Given the description of an element on the screen output the (x, y) to click on. 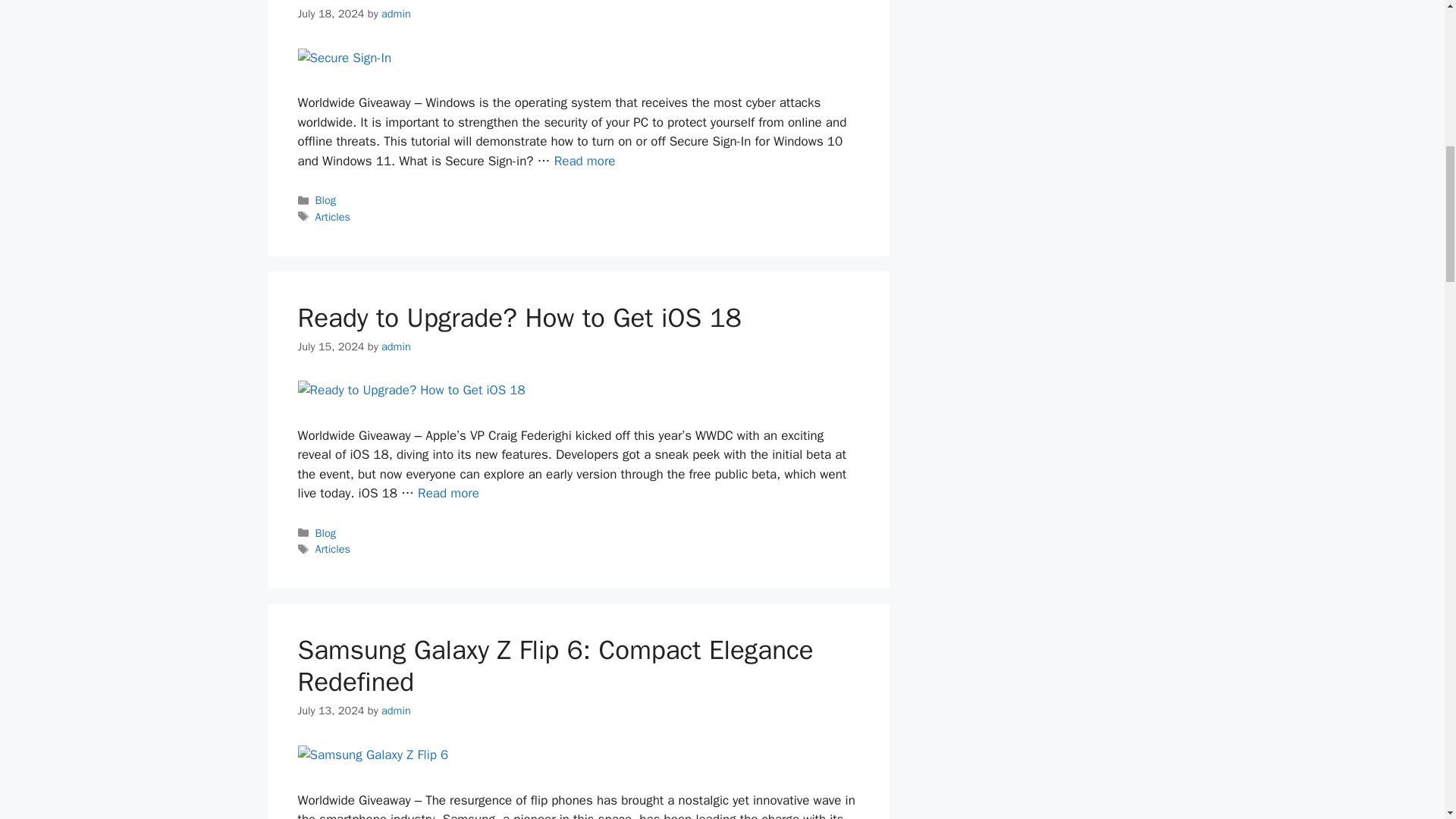
Ready to Upgrade? How to Get iOS 18 (519, 316)
Articles (332, 216)
Samsung Galaxy Z Flip 6: Compact Elegance Redefined (554, 665)
Blog (325, 532)
Articles (332, 549)
Read more (448, 493)
How to Enable or Disable Secure Sign-In for Windows 11 (584, 160)
Blog (325, 200)
admin (395, 13)
View all posts by admin (395, 345)
View all posts by admin (395, 710)
admin (395, 710)
Ready to Upgrade? How to Get iOS 18 (448, 493)
admin (395, 345)
